Given the description of an element on the screen output the (x, y) to click on. 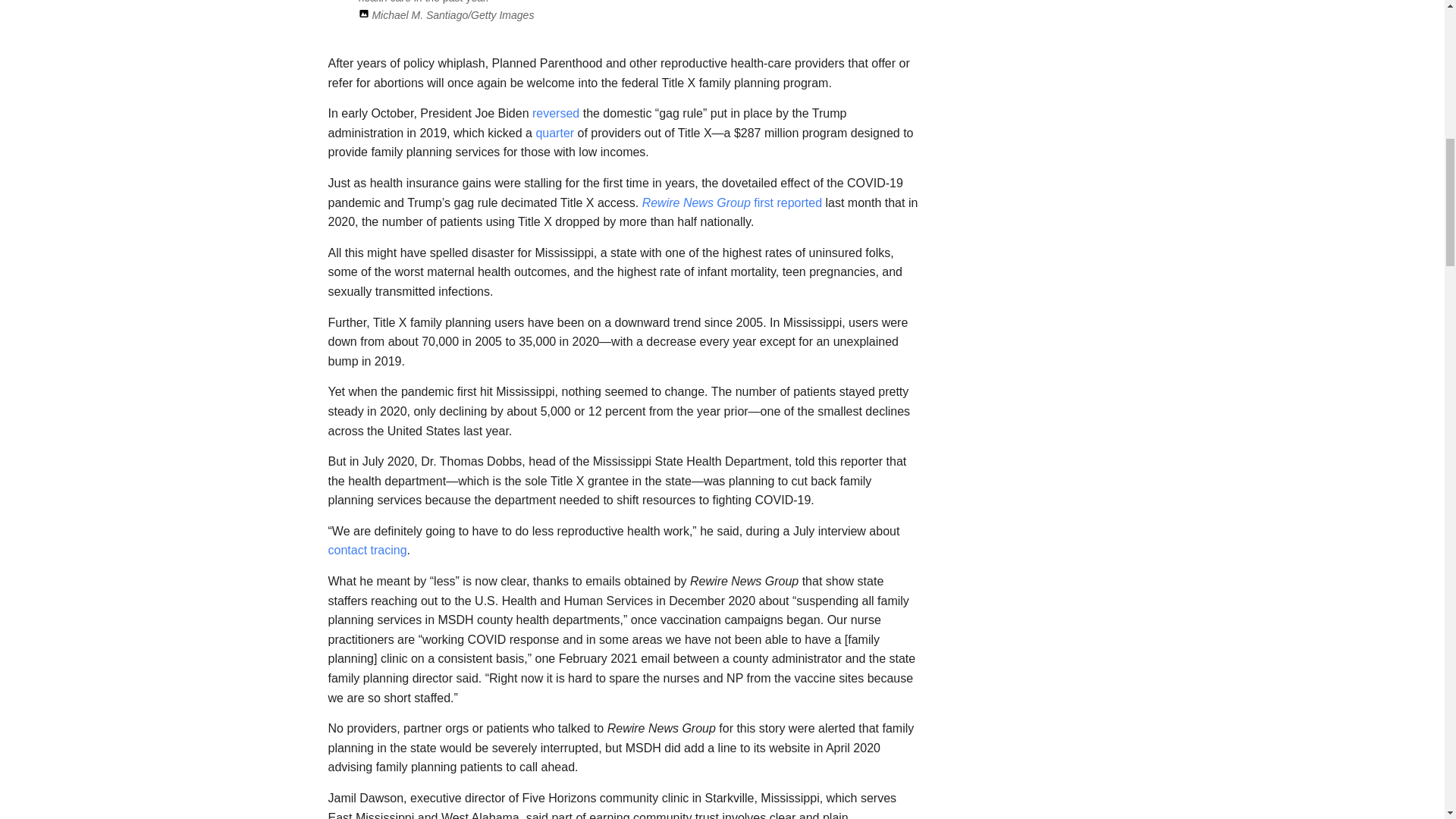
quarter (554, 132)
Rewire News Group first reported (732, 202)
contact tracing (366, 549)
reversed (555, 113)
